Given the description of an element on the screen output the (x, y) to click on. 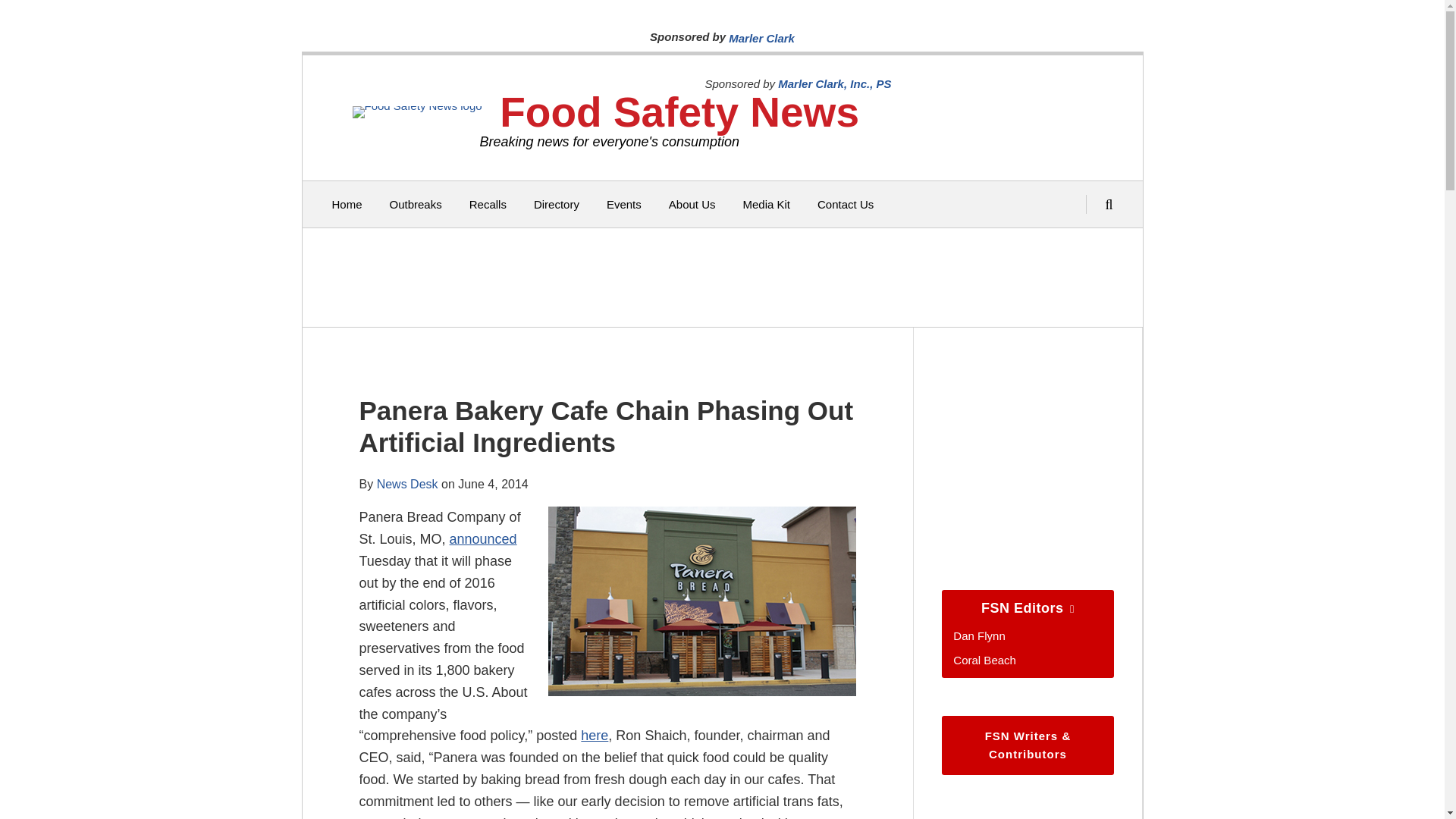
Directory (556, 204)
Coral Beach (984, 659)
Outbreaks (416, 204)
Marler Clark (761, 38)
Recalls (487, 204)
About Us (692, 204)
Marler Clark, Inc., PS (834, 83)
announced (482, 539)
News Desk (407, 483)
Contact Us (844, 204)
Home (346, 204)
Media Kit (766, 204)
here (594, 735)
Events (624, 204)
Food Safety News (679, 111)
